Given the description of an element on the screen output the (x, y) to click on. 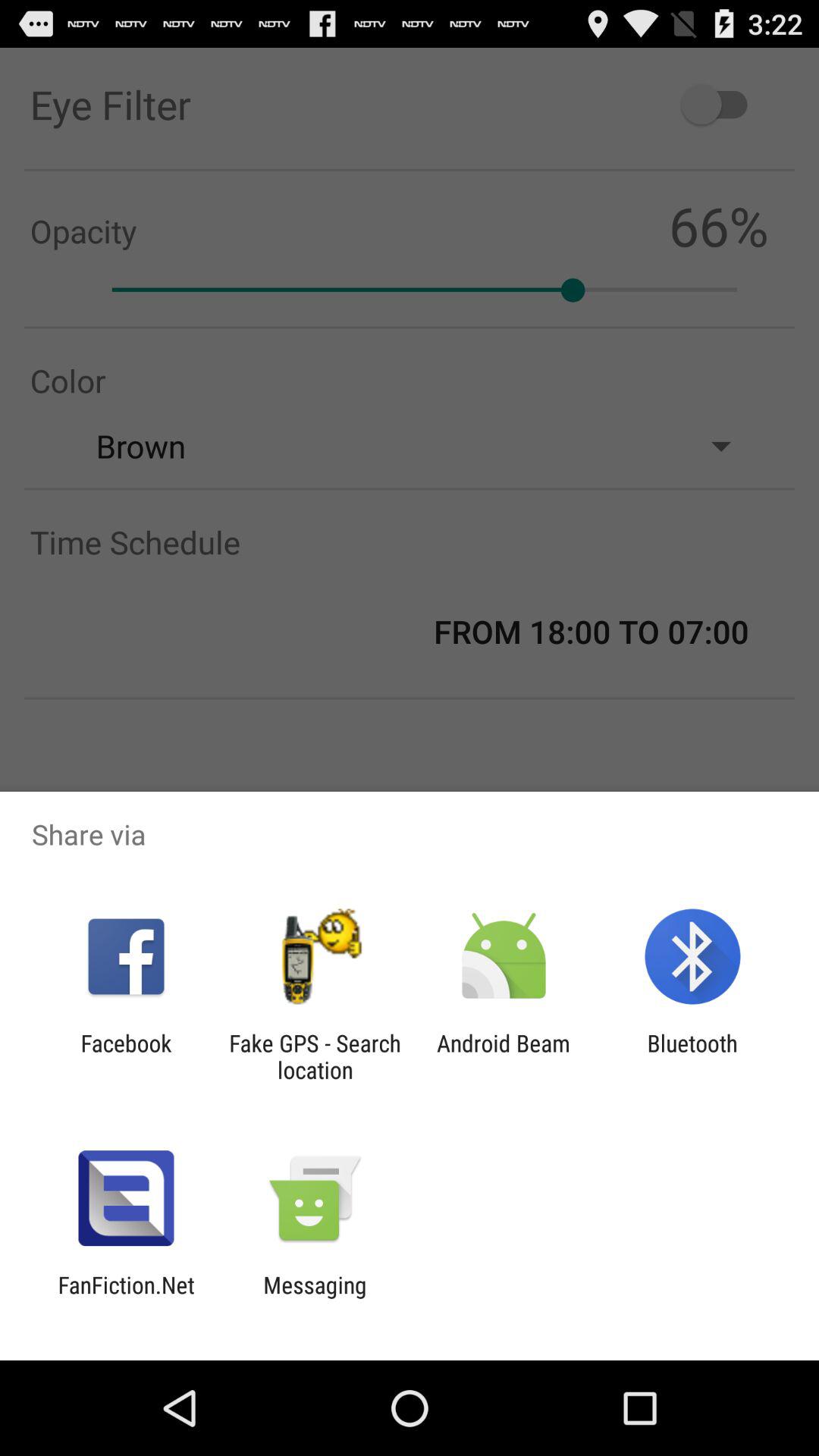
tap the android beam (503, 1056)
